Given the description of an element on the screen output the (x, y) to click on. 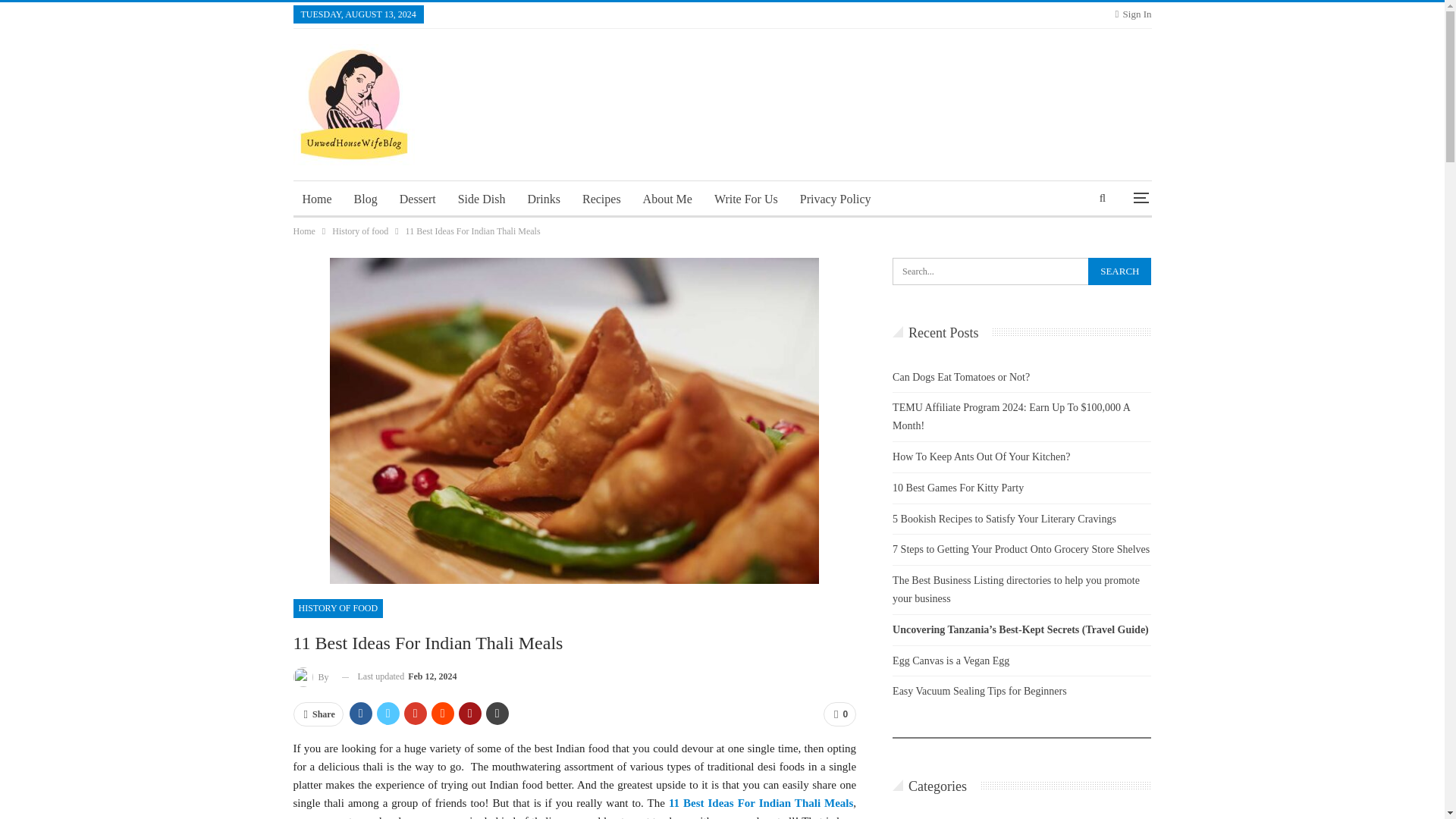
Sign In (1133, 13)
About Me (667, 198)
Write For Us (745, 198)
Search for: (1021, 271)
Search (1119, 271)
By (311, 676)
0 (840, 713)
HISTORY OF FOOD (337, 607)
Dessert (417, 198)
Privacy Policy (835, 198)
